Given the description of an element on the screen output the (x, y) to click on. 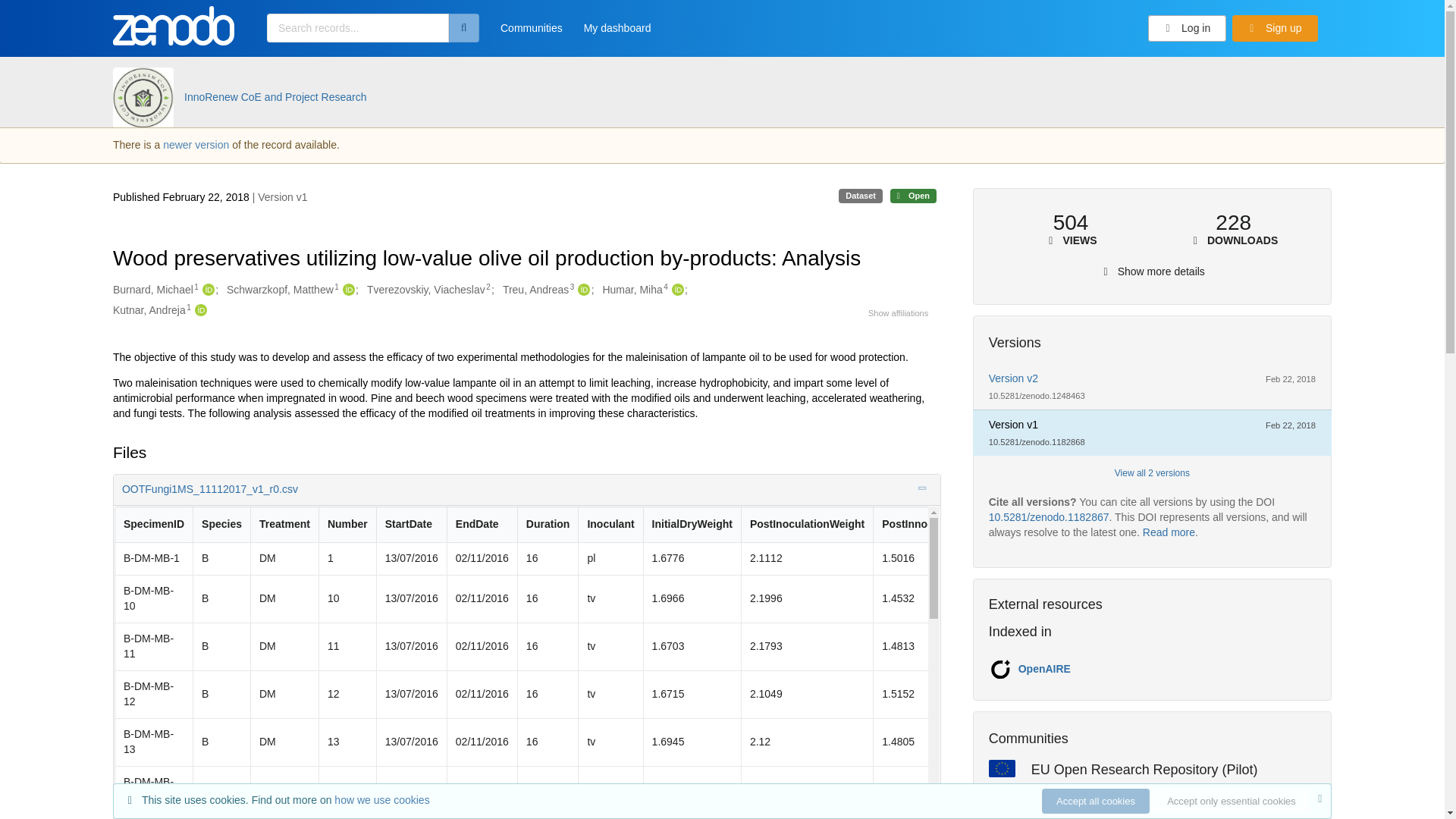
Kutnar, Andreja's ORCID profile (198, 310)
Burnard, Michael1 (155, 290)
Humar, Miha's ORCID profile (676, 290)
Version v2 (1013, 378)
Treu, Andreas3 (537, 290)
My dashboard (617, 32)
Communities (531, 32)
Burnard, Michael's ORCID profile (206, 290)
Publication date (182, 196)
Skip to main (49, 17)
